Given the description of an element on the screen output the (x, y) to click on. 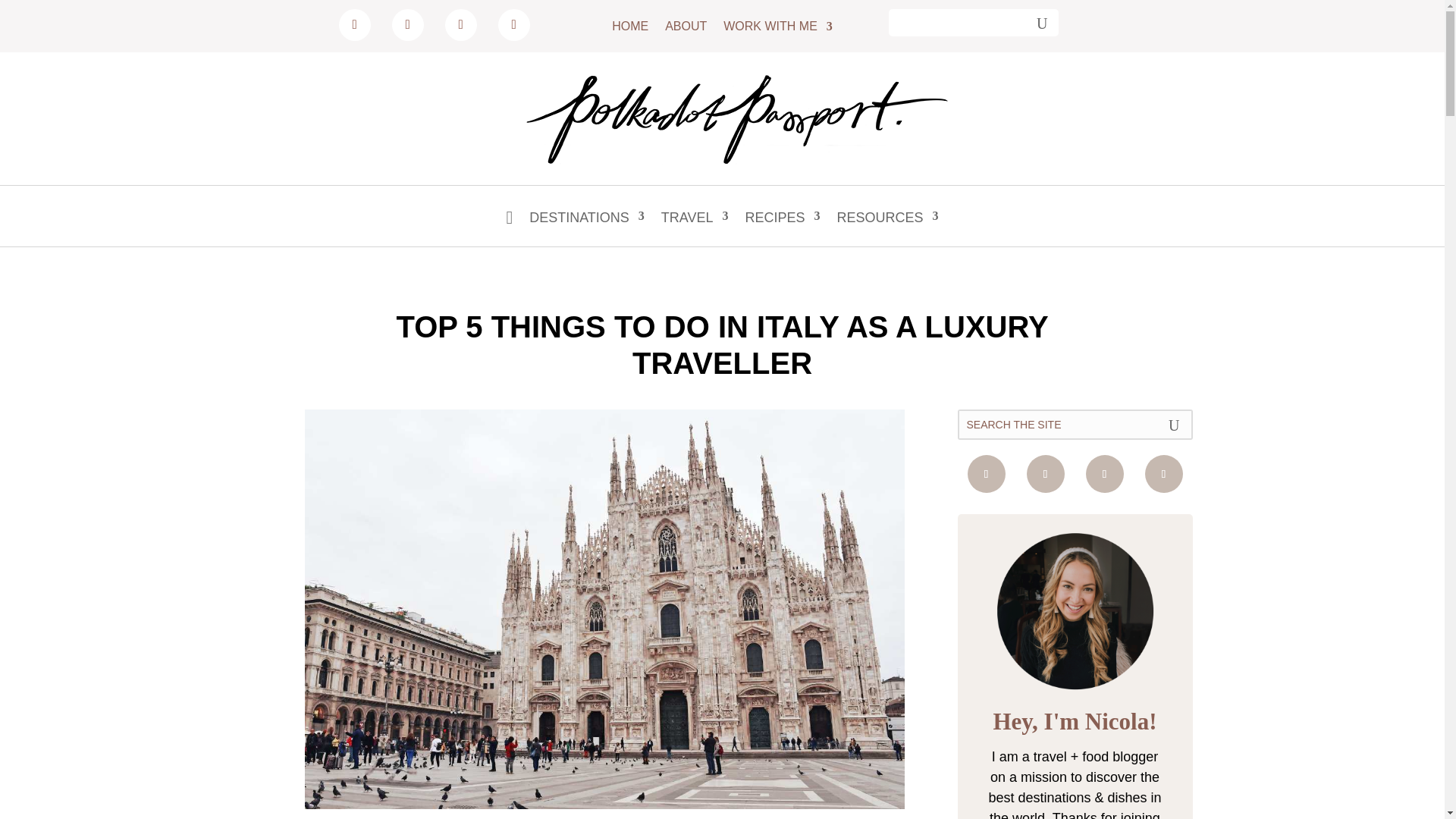
DESTINATIONS (587, 228)
Follow on Facebook (987, 474)
Search (1037, 22)
ABOUT (685, 29)
Follow on Pinterest (1105, 474)
Search (1037, 22)
Follow on TikTok (513, 24)
Follow on TikTok (1045, 474)
WORK WITH ME (777, 29)
Search (1037, 22)
HOME (629, 29)
Follow on Instagram (1163, 474)
Follow on Instagram (355, 24)
Follow on Facebook (407, 24)
Follow on Pinterest (461, 24)
